Given the description of an element on the screen output the (x, y) to click on. 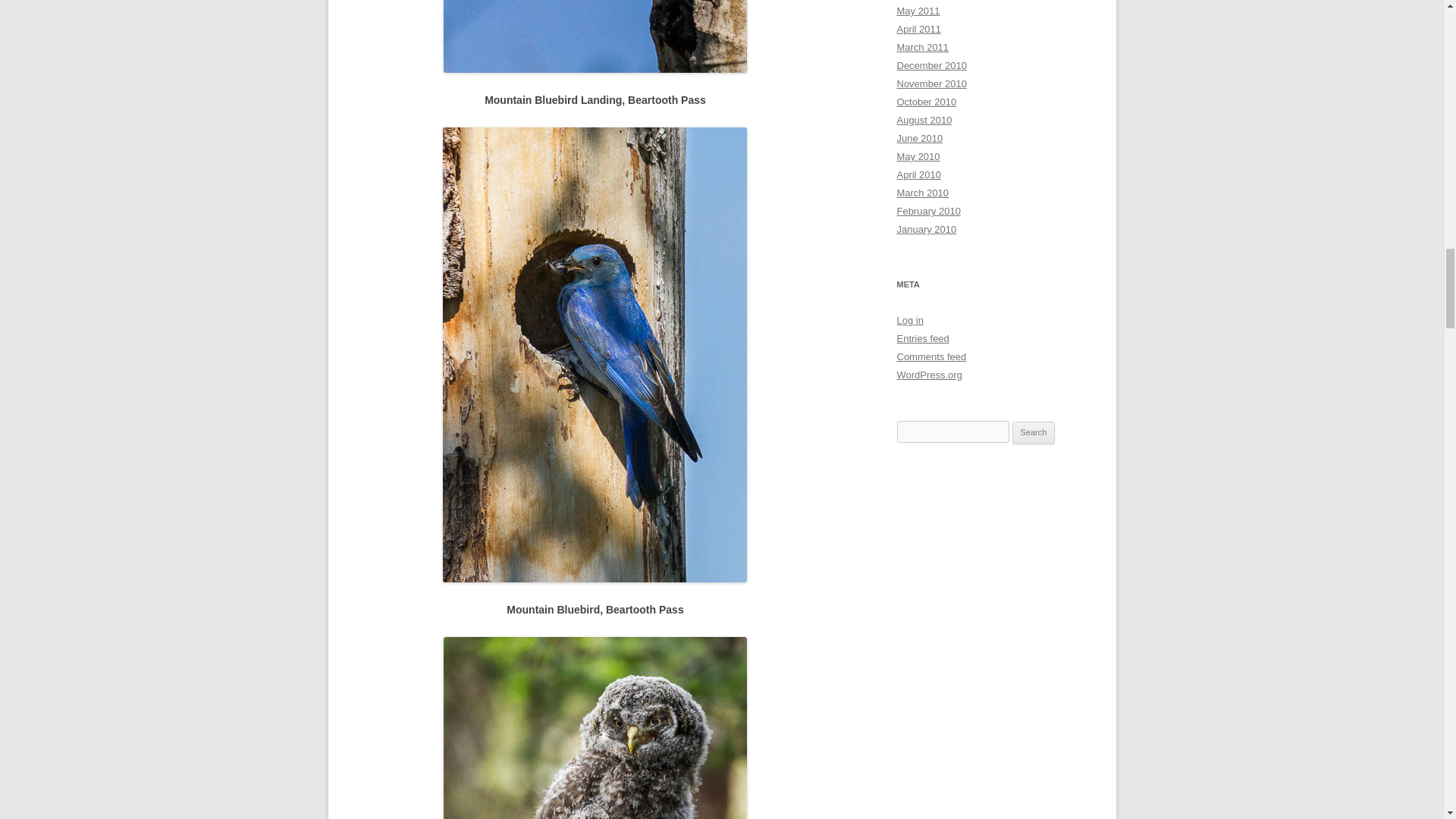
Search (1033, 432)
